Given the description of an element on the screen output the (x, y) to click on. 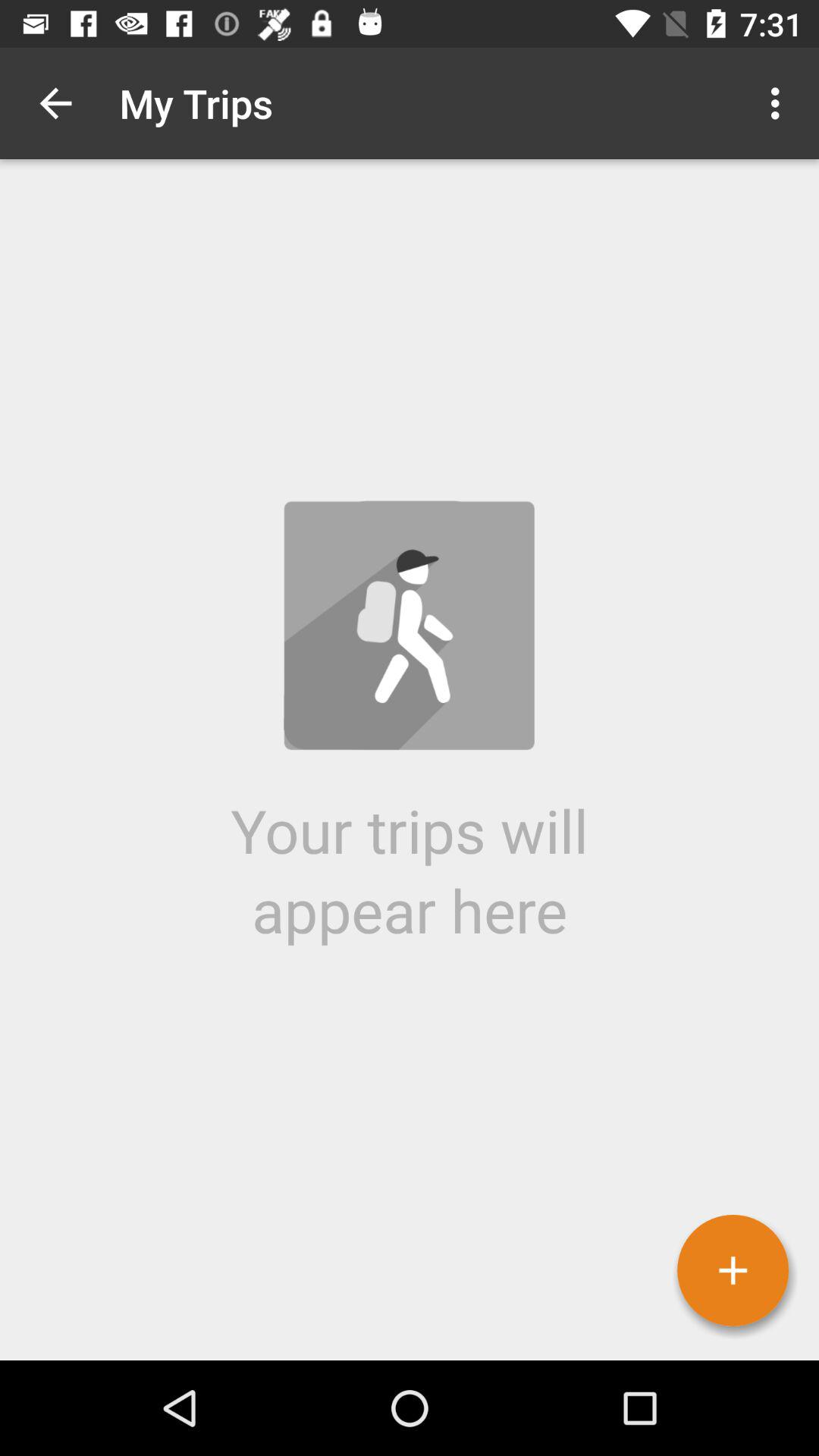
turn on item next to the my trips icon (779, 103)
